Given the description of an element on the screen output the (x, y) to click on. 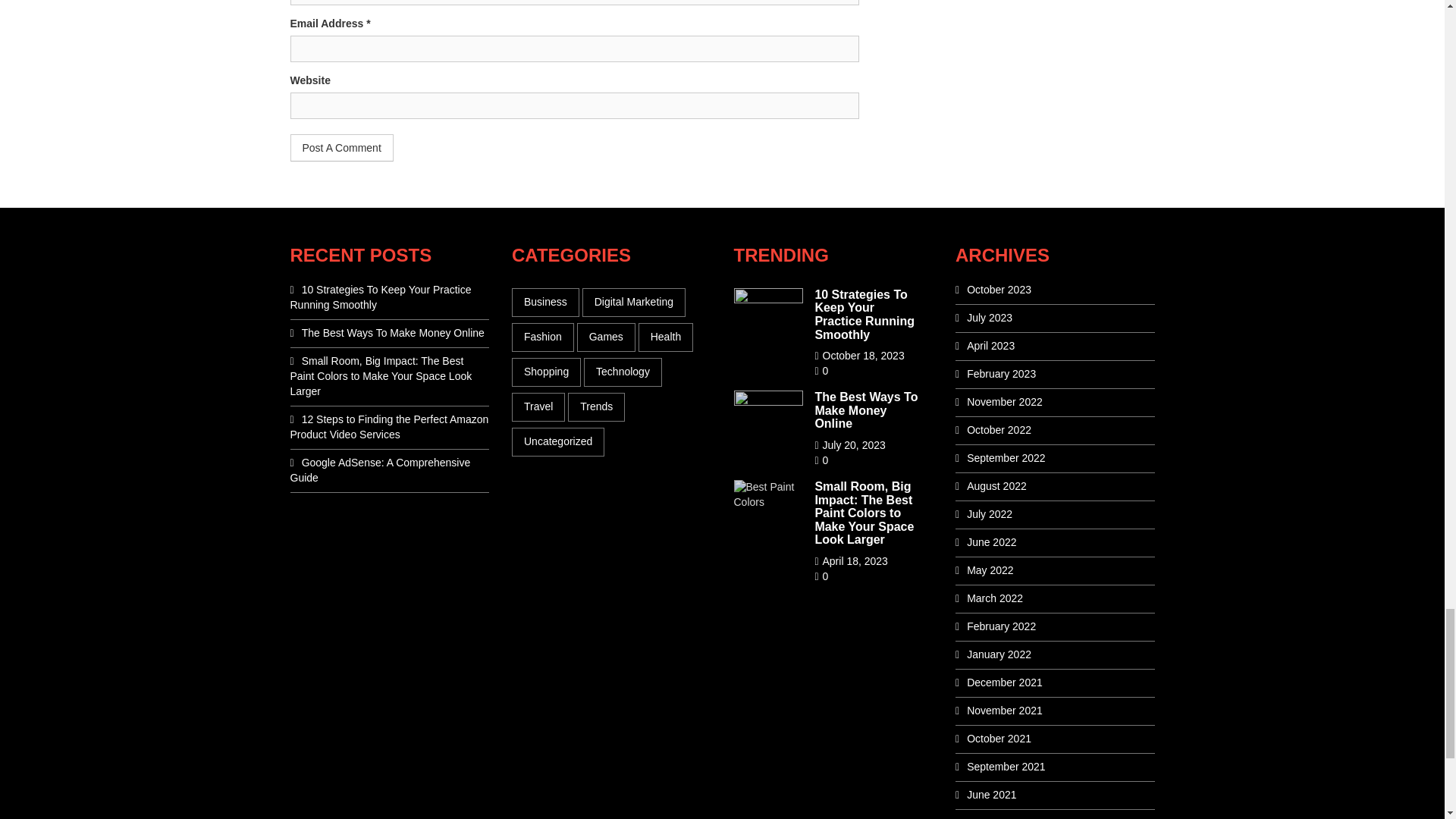
Post A Comment (341, 146)
